Given the description of an element on the screen output the (x, y) to click on. 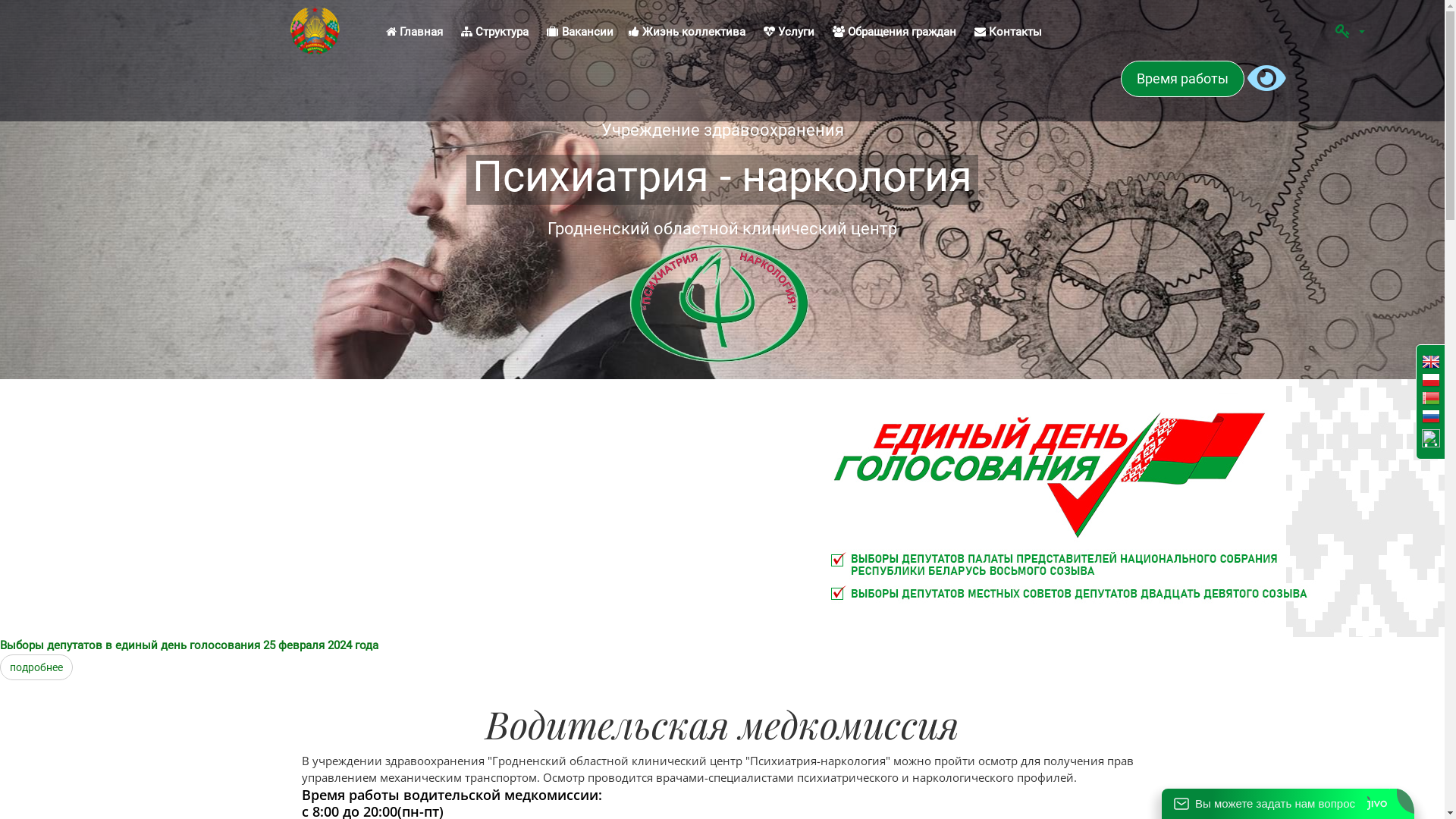
Belarusian Element type: hover (1430, 400)
Lithuanian Element type: hover (1430, 436)
English Element type: hover (1430, 363)
Russian Element type: hover (1430, 418)
Poland Element type: hover (1430, 381)
